Given the description of an element on the screen output the (x, y) to click on. 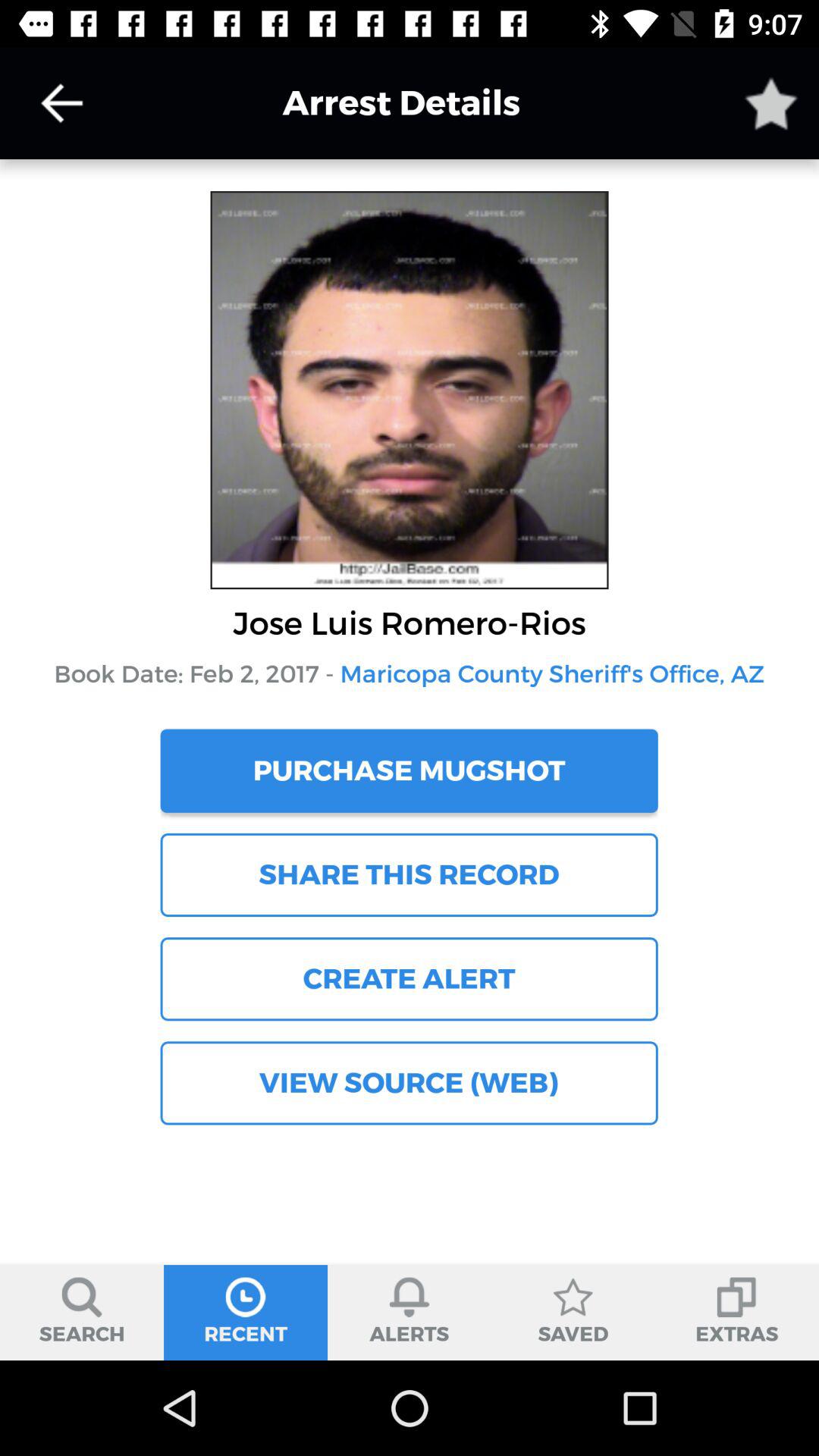
press item above view source (web) item (409, 978)
